Given the description of an element on the screen output the (x, y) to click on. 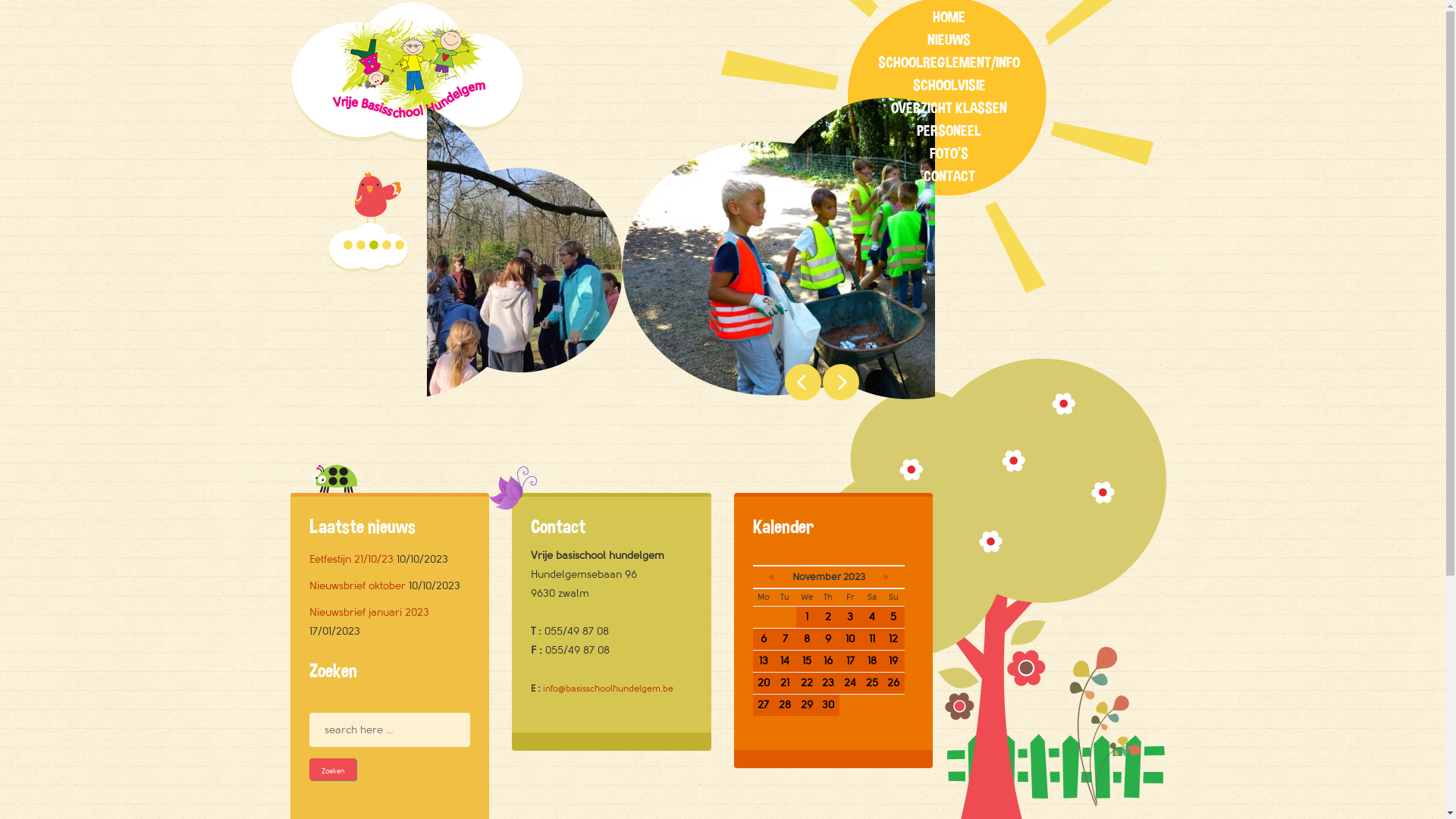
11 Element type: text (871, 638)
OVERZICHT KLASSEN Element type: text (948, 108)
24 Element type: text (850, 682)
3 Element type: text (850, 616)
25 Element type: text (871, 682)
6 Element type: text (763, 638)
info@basisschoolhundelgem.be Element type: text (607, 688)
16 Element type: text (828, 660)
27 Element type: text (763, 704)
30 Element type: text (828, 704)
SCHOOLREGLEMENT/INFO Element type: text (948, 63)
21 Element type: text (785, 682)
13 Element type: text (763, 660)
29 Element type: text (807, 704)
2 Element type: text (828, 616)
7 Element type: text (785, 638)
PERSONEEL Element type: text (948, 131)
23 Element type: text (828, 682)
Nieuwsbrief oktober Element type: text (357, 585)
28 Element type: text (785, 704)
5 Element type: text (893, 616)
12 Element type: text (893, 638)
1 Element type: text (807, 616)
Eetfestijn 21/10/23 Element type: text (351, 558)
15 Element type: text (807, 660)
SCHOOLVISIE Element type: text (949, 85)
8 Element type: text (807, 638)
CONTACT Element type: text (949, 176)
HOME Element type: text (948, 17)
4 Element type: text (871, 616)
NIEUWS Element type: text (948, 40)
22 Element type: text (807, 682)
19 Element type: text (893, 660)
17 Element type: text (850, 660)
26 Element type: text (893, 682)
9 Element type: text (828, 638)
Zoeken Element type: text (332, 769)
18 Element type: text (871, 660)
10 Element type: text (850, 638)
14 Element type: text (785, 660)
20 Element type: text (763, 682)
Nieuwsbrief januari 2023 Element type: text (369, 612)
